Given the description of an element on the screen output the (x, y) to click on. 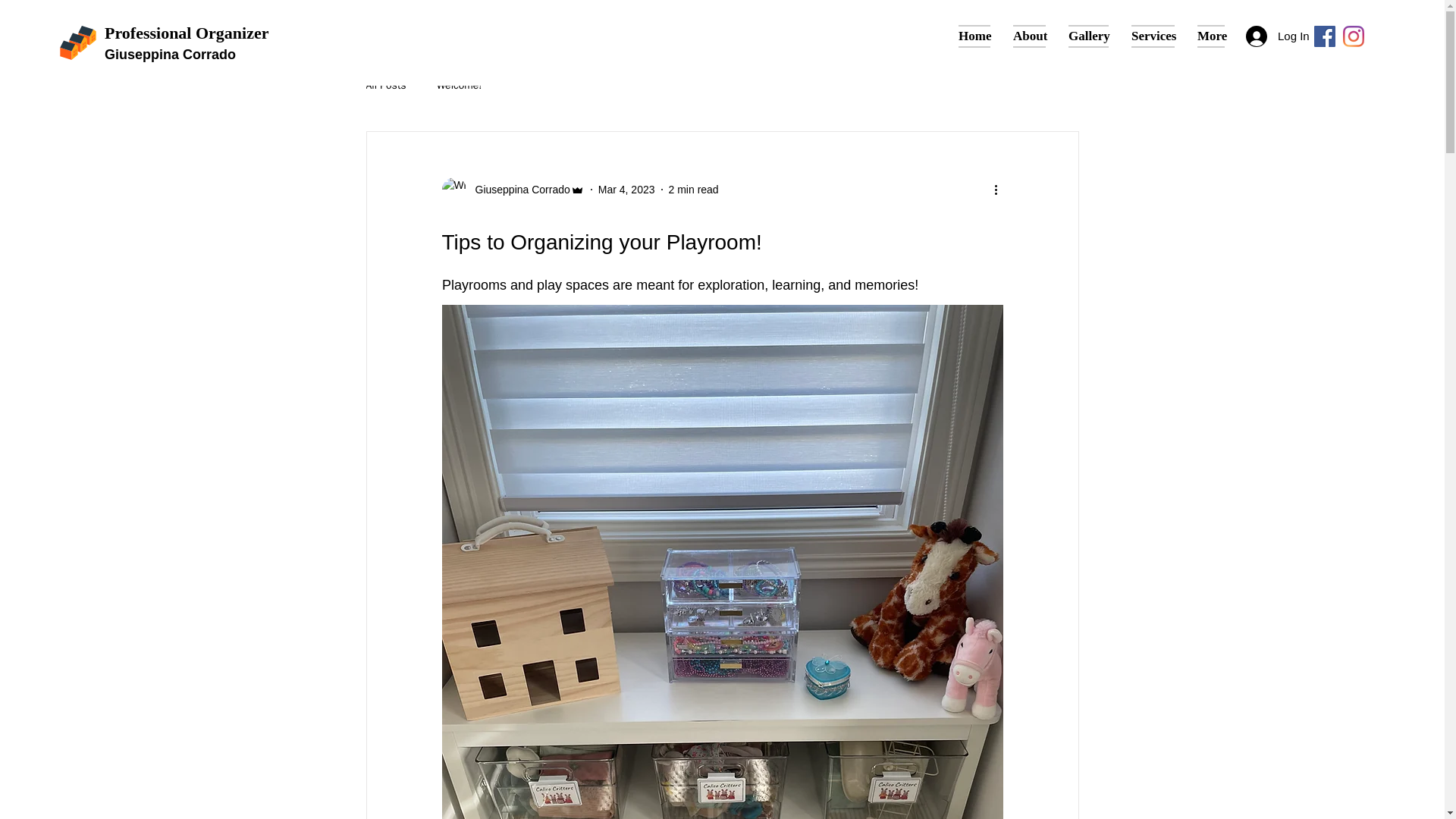
Giuseppina Corrado (169, 54)
Home (974, 36)
2 min read (693, 189)
All Posts (385, 85)
Welcome! (458, 85)
Services (1152, 36)
Log In (1266, 36)
Giuseppina Corrado (517, 189)
Professional Organizer (186, 32)
Gallery (1088, 36)
